Given the description of an element on the screen output the (x, y) to click on. 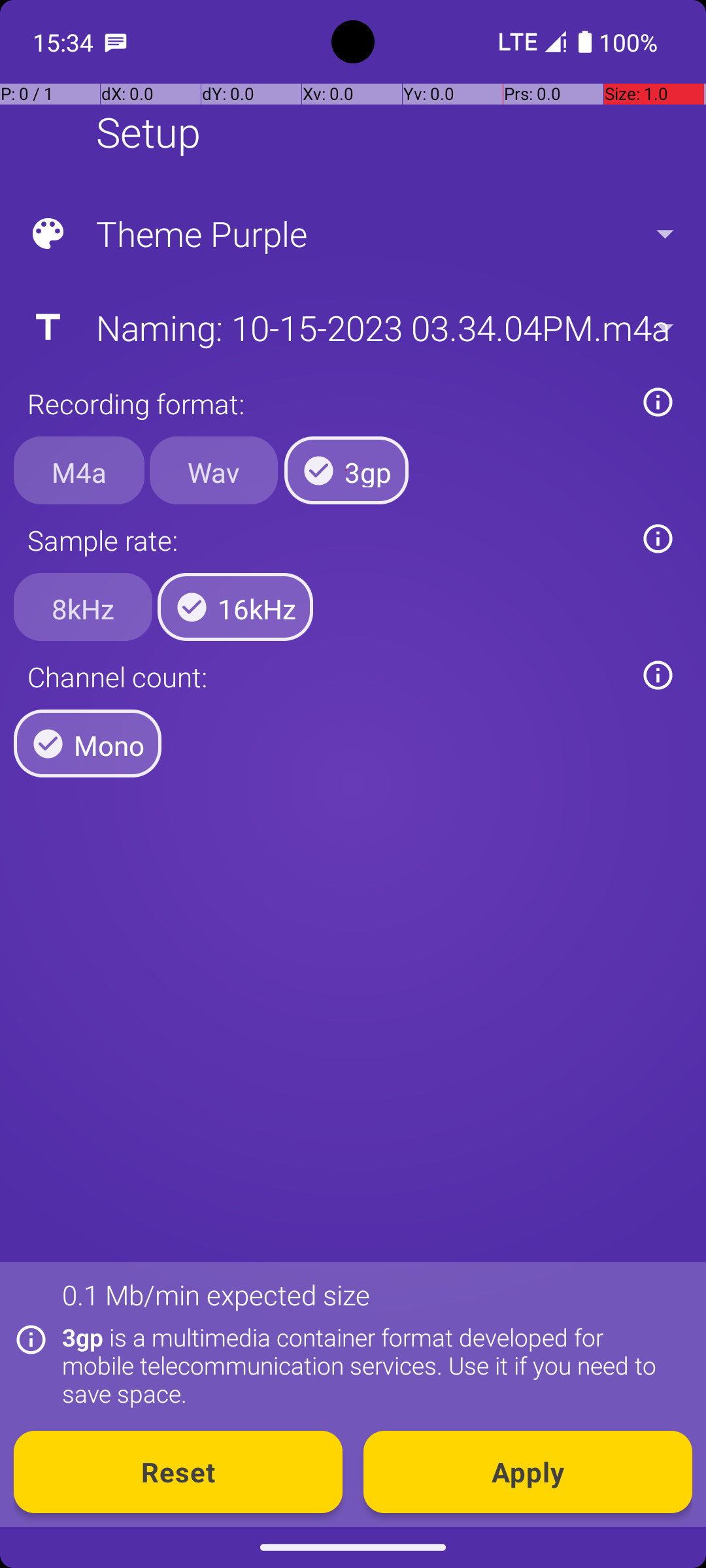
0.1 Mb/min expected size Element type: android.widget.TextView (215, 1294)
3gp is a multimedia container format developed for mobile telecommunication services. Use it if you need to save space. Element type: android.widget.TextView (370, 1364)
Naming: 10-15-2023 03.34.04PM.m4a Element type: android.widget.TextView (352, 327)
